Given the description of an element on the screen output the (x, y) to click on. 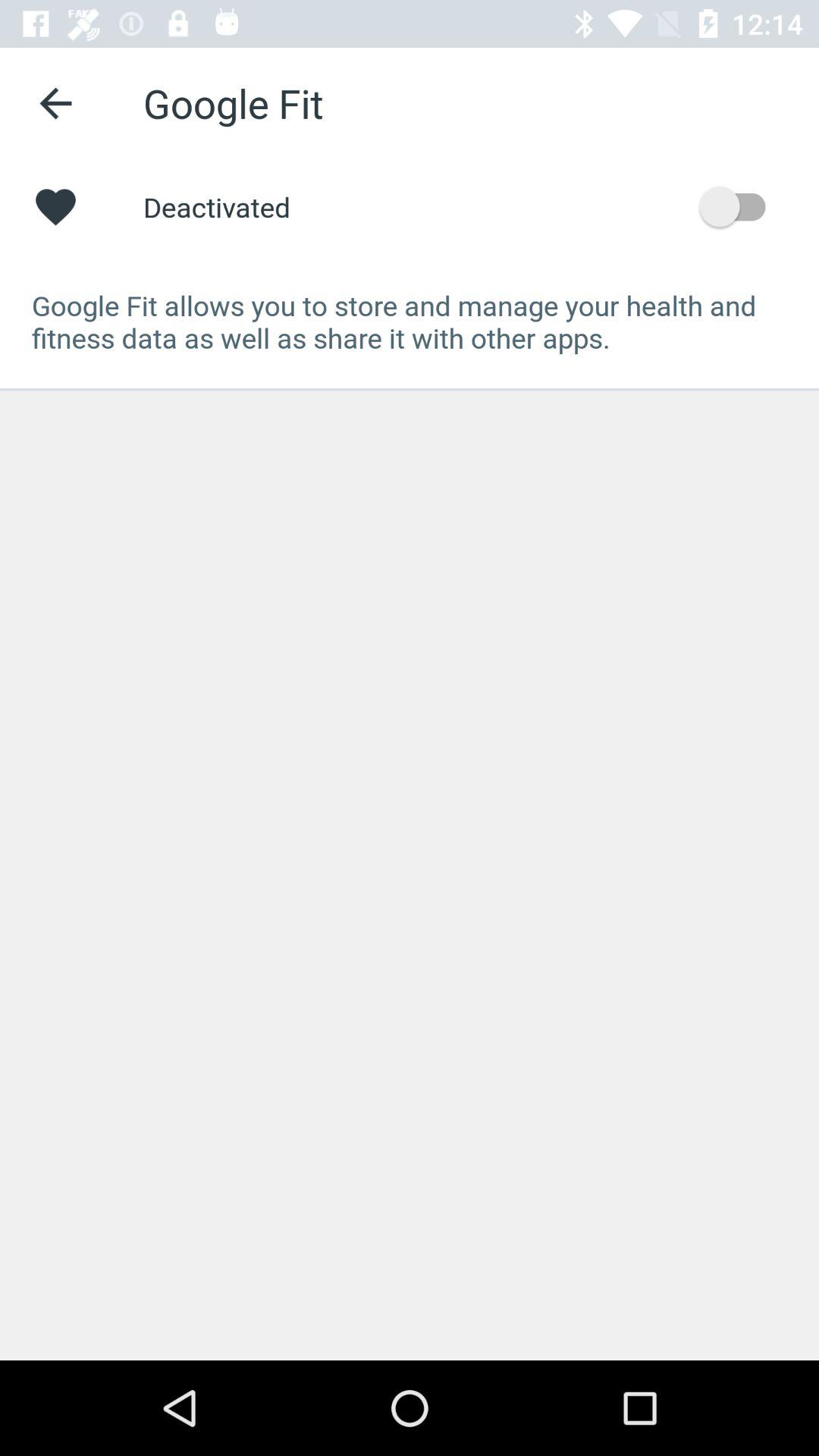
tap icon to the left of the google fit (55, 103)
